Given the description of an element on the screen output the (x, y) to click on. 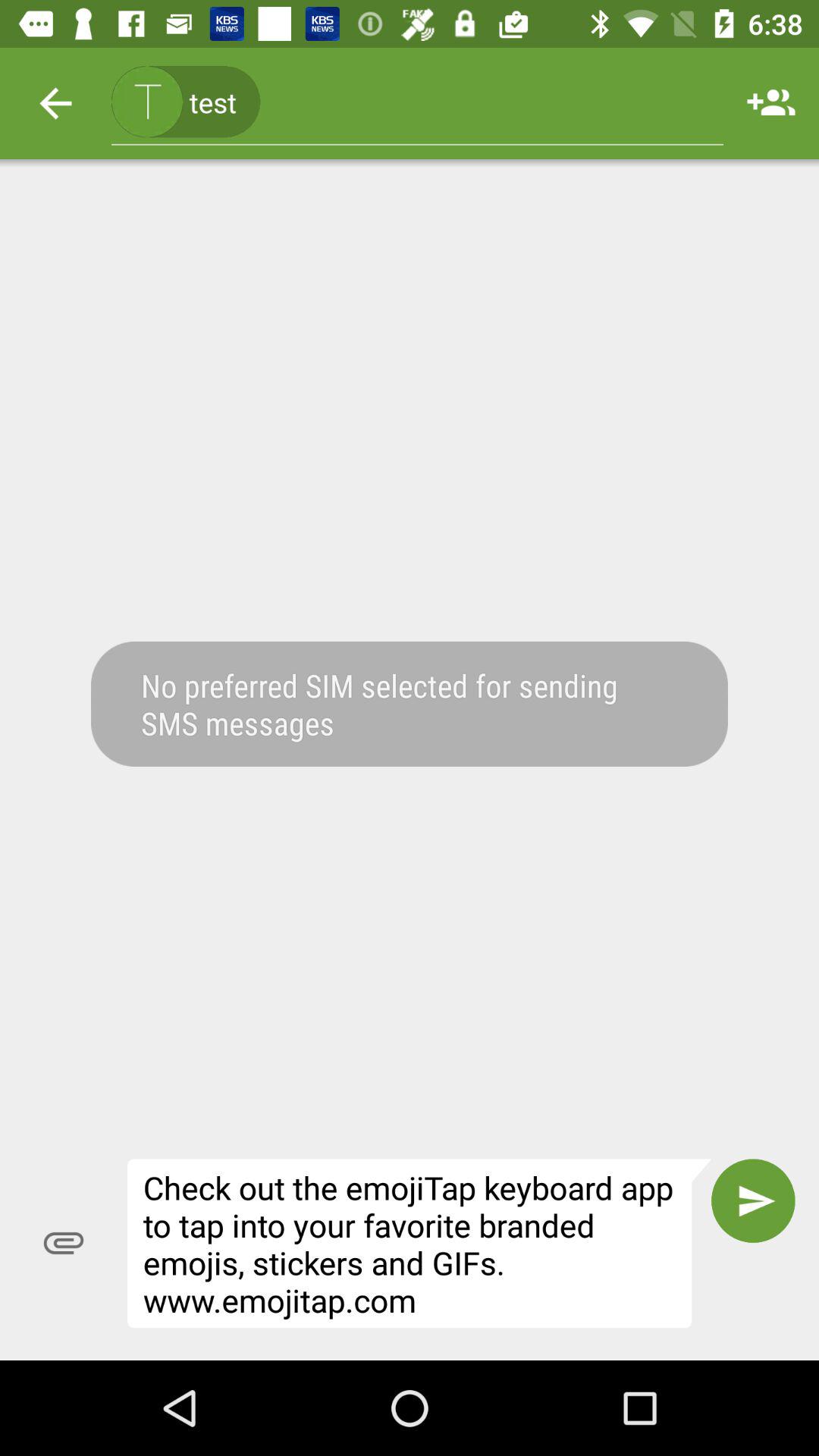
press item at the top left corner (55, 103)
